Given the description of an element on the screen output the (x, y) to click on. 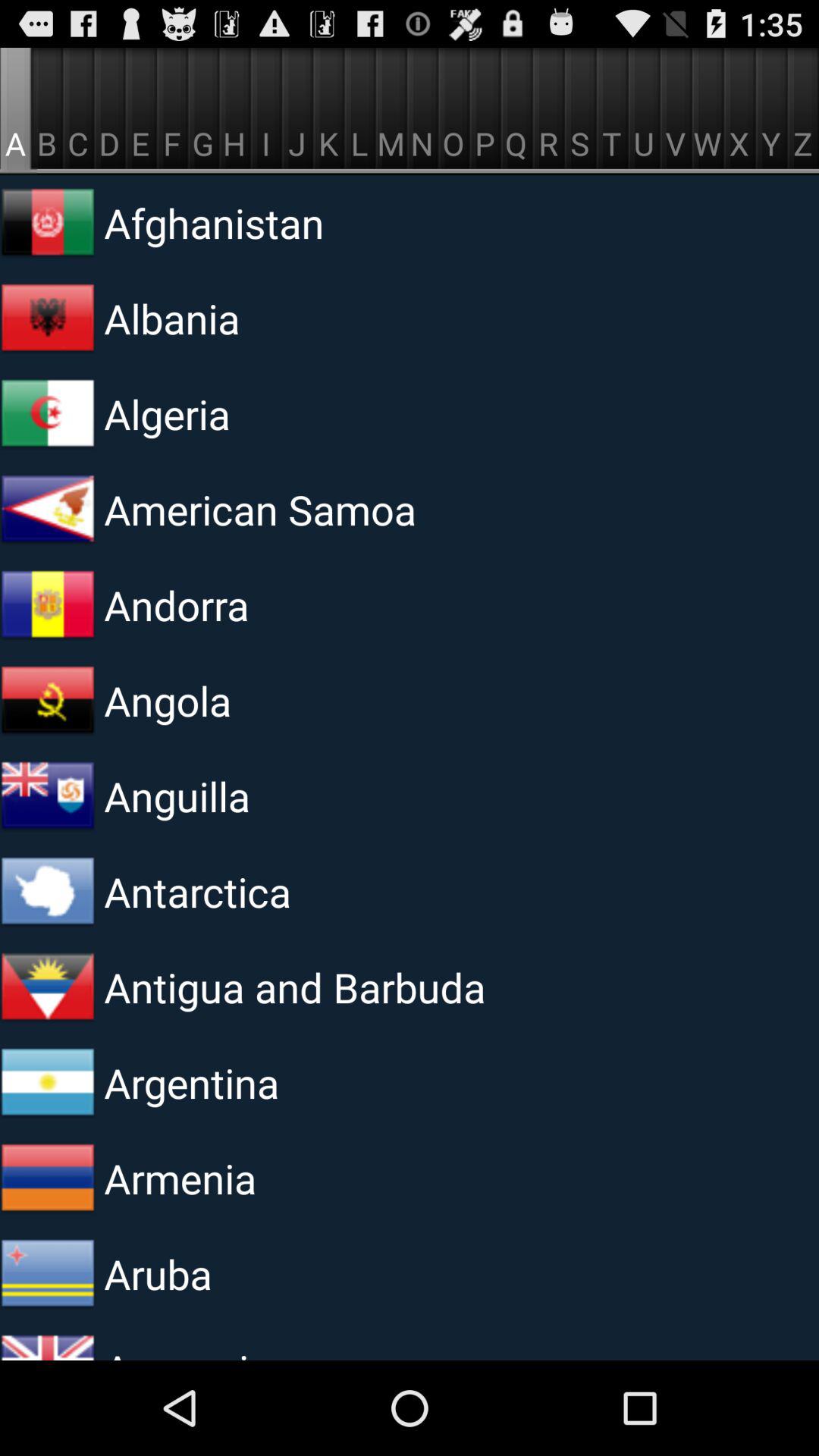
scroll to ascension item (290, 1350)
